Given the description of an element on the screen output the (x, y) to click on. 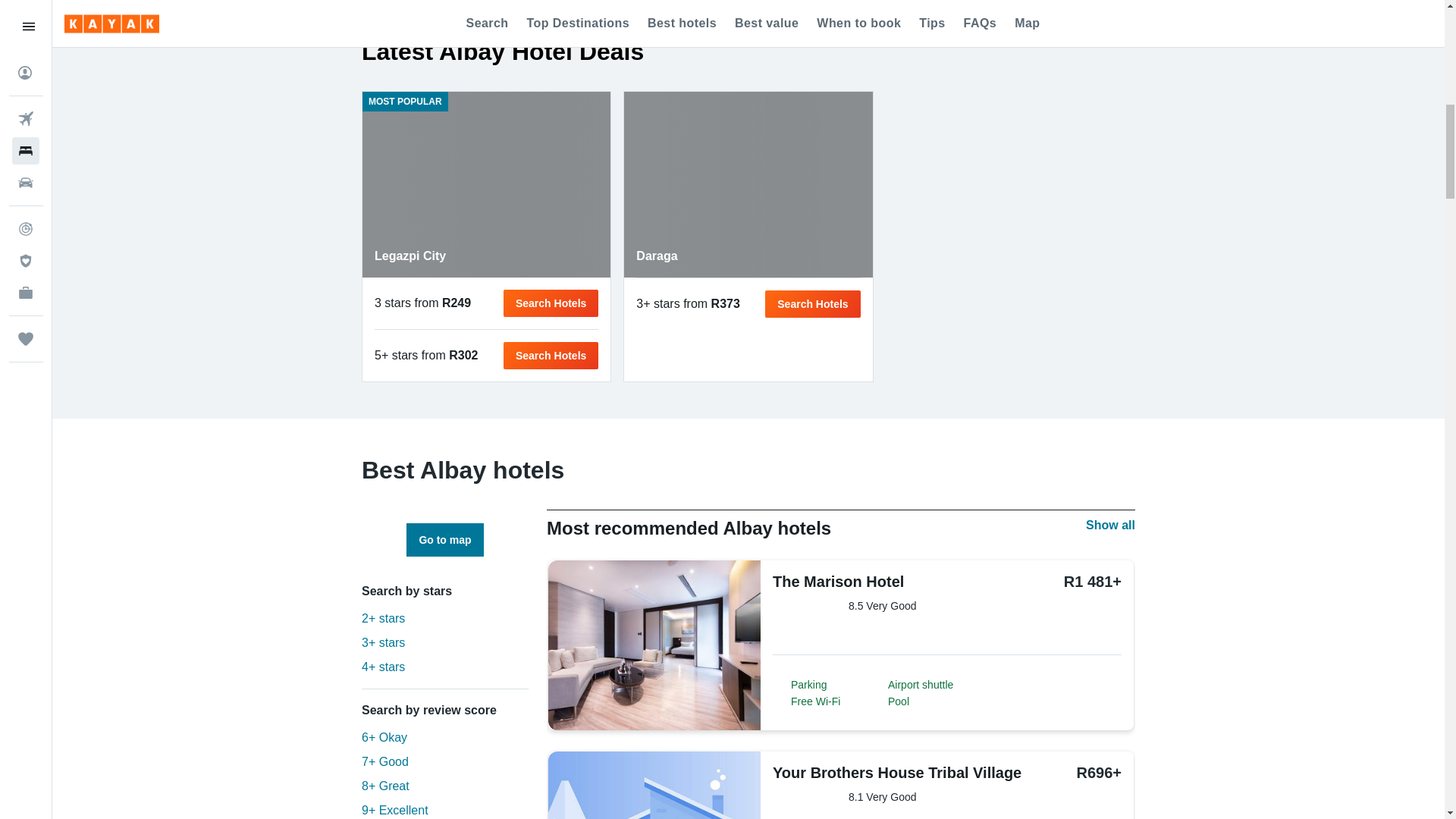
The Marison Hotel (860, 581)
Your Brothers House Tribal Village (897, 772)
Search Hotels (486, 184)
Show all (812, 303)
Daraga (1110, 525)
Search Hotels (748, 184)
Search Hotels (550, 302)
